Given the description of an element on the screen output the (x, y) to click on. 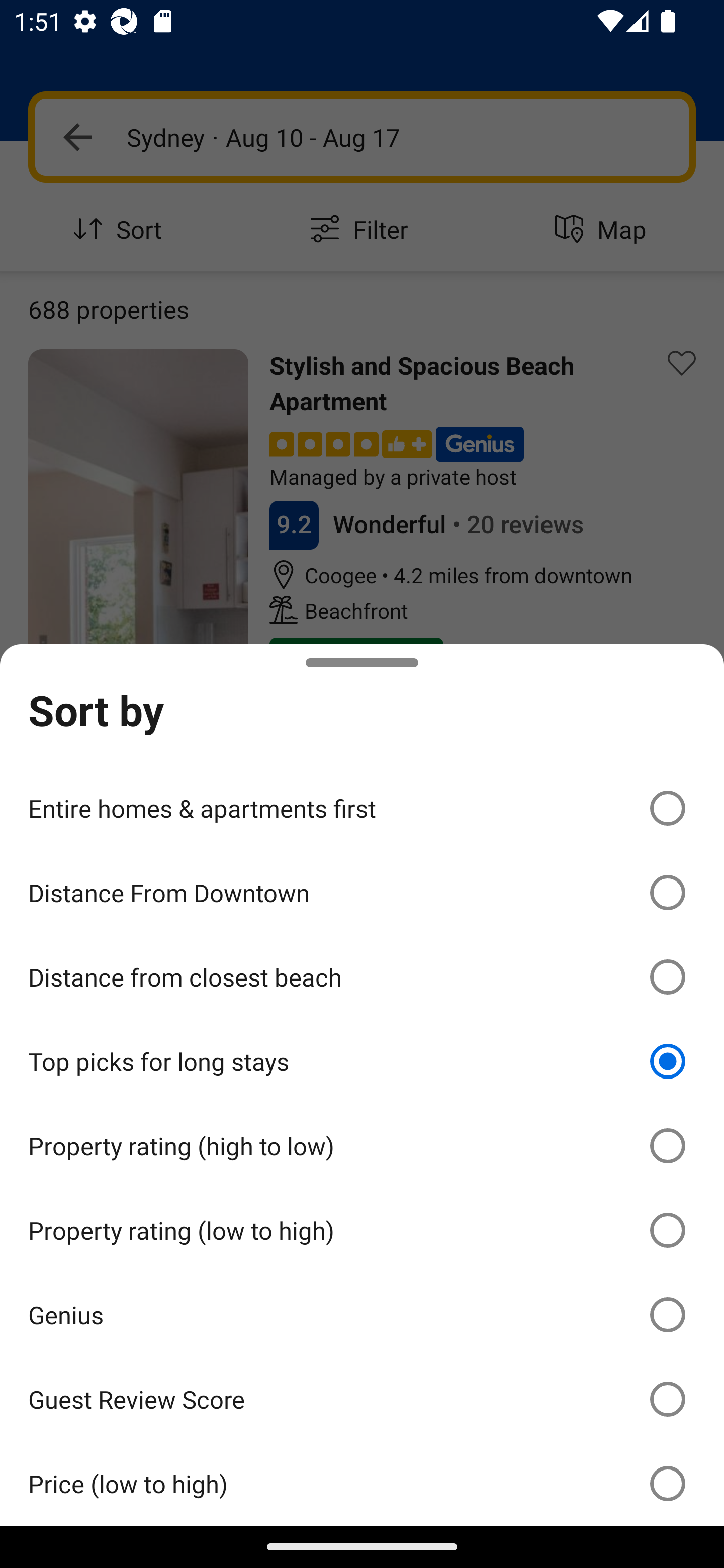
Entire homes & apartments first (362, 807)
Distance From Downtown (362, 891)
Distance from closest beach (362, 976)
Top picks for long stays (362, 1061)
Property rating (high to low) (362, 1145)
Property rating (low to high) (362, 1230)
Genius (362, 1314)
Guest Review Score (362, 1398)
Price (low to high) (362, 1482)
